Given the description of an element on the screen output the (x, y) to click on. 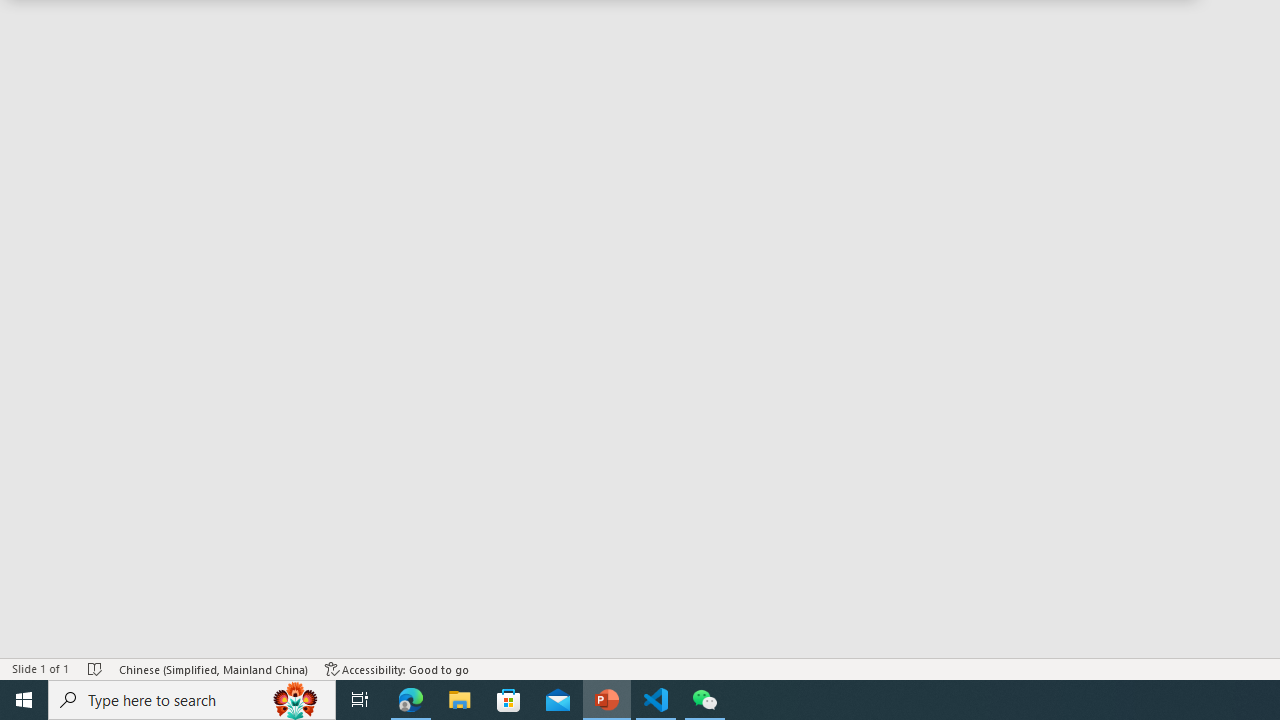
Microsoft Edge - 1 running window (411, 699)
WeChat - 1 running window (704, 699)
Accessibility Checker Accessibility: Good to go (397, 668)
